Given the description of an element on the screen output the (x, y) to click on. 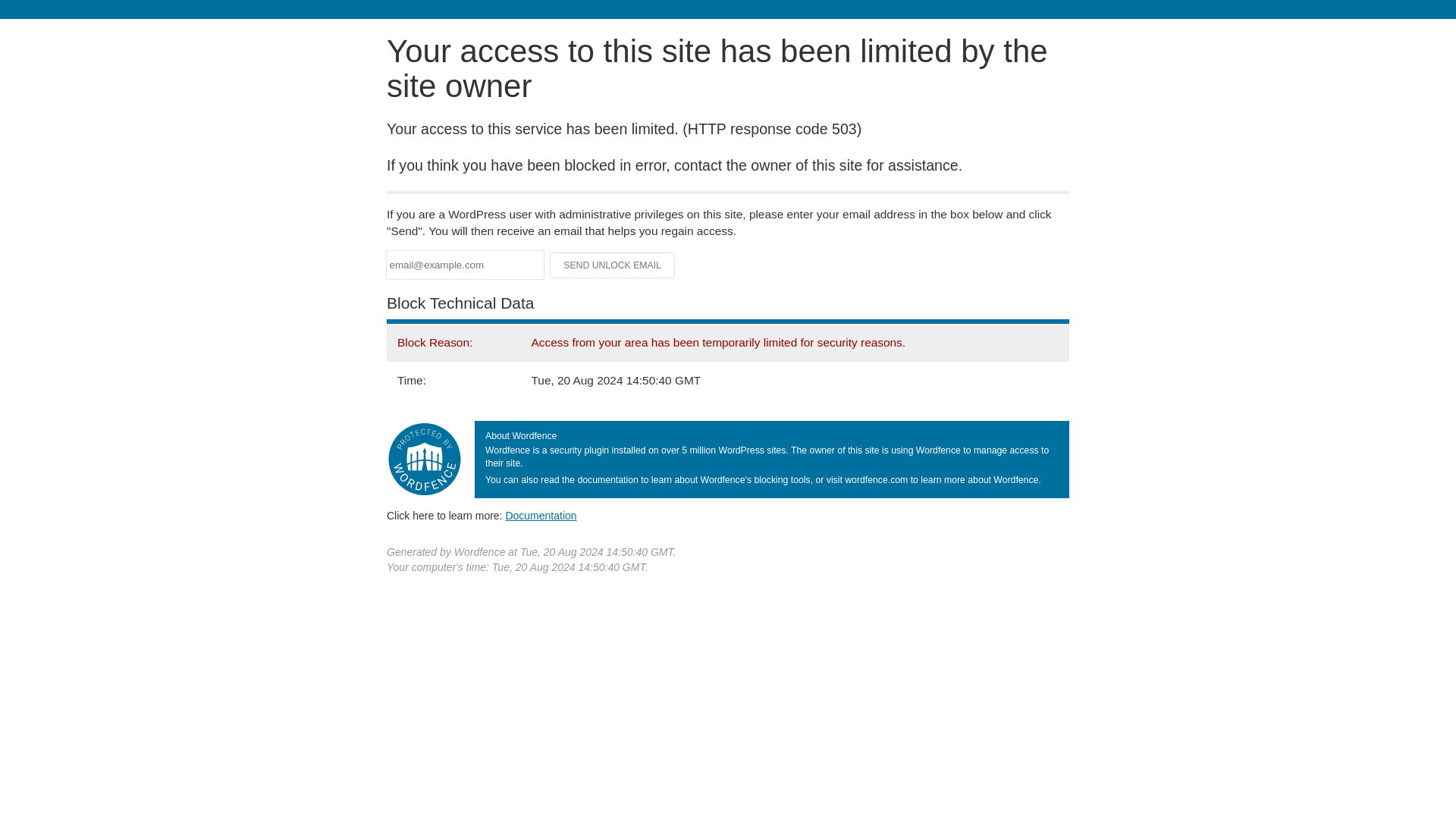
Send Unlock Email (612, 265)
Documentation (540, 515)
Send Unlock Email (612, 265)
